Given the description of an element on the screen output the (x, y) to click on. 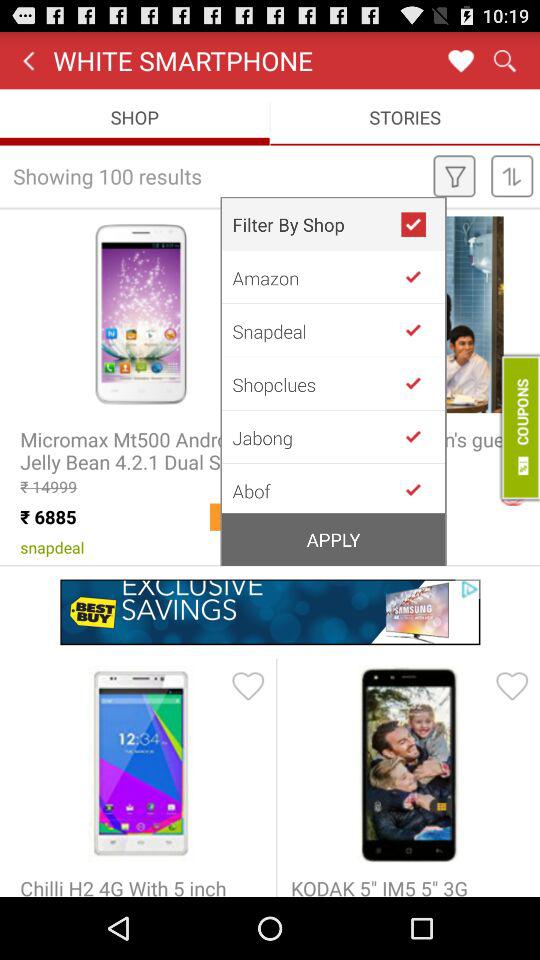
swipe until amazon item (316, 277)
